Given the description of an element on the screen output the (x, y) to click on. 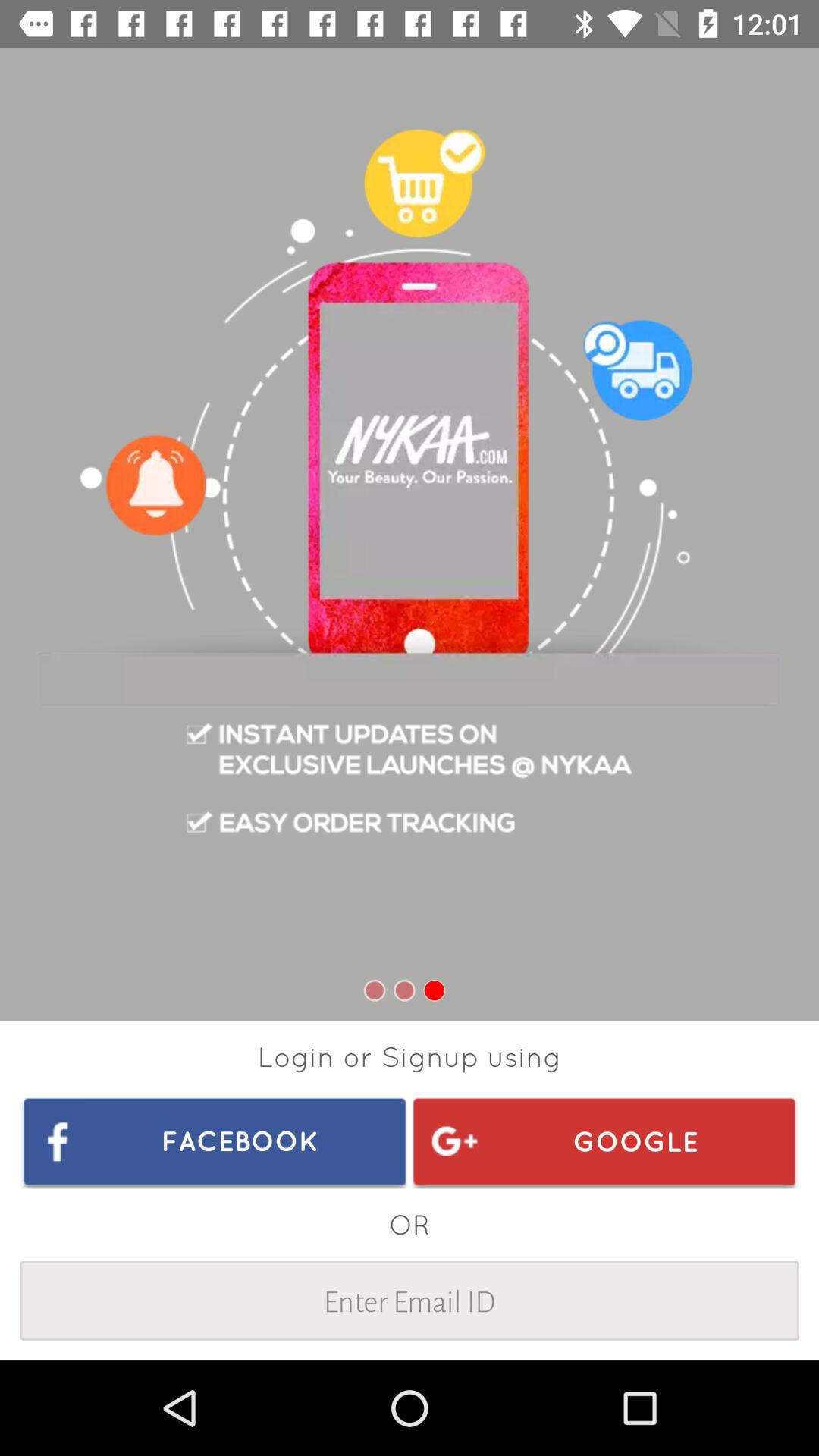
scroll until the google (604, 1140)
